Given the description of an element on the screen output the (x, y) to click on. 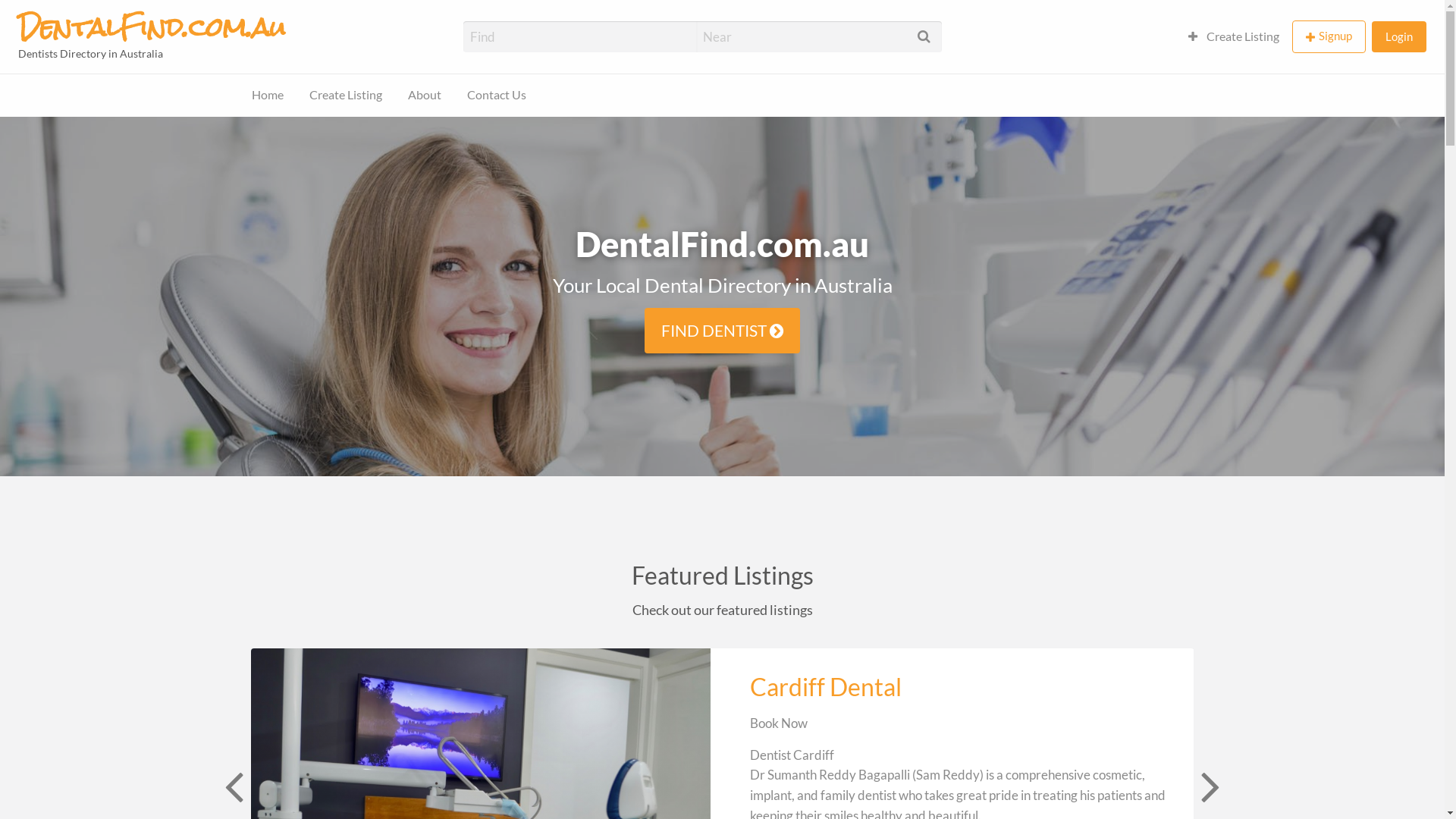
Search Element type: text (29, 16)
Contact Us Element type: text (38, 116)
Signup Element type: text (1328, 36)
Home Element type: text (267, 94)
Create Listing Element type: text (1233, 36)
Contact Us Element type: text (496, 94)
FIND DENTIST Element type: text (722, 329)
Next Element type: text (1208, 785)
About Element type: text (424, 94)
Previous Element type: text (231, 785)
Login Element type: text (1398, 36)
Cardiff Dental Element type: text (825, 686)
Create Listing Element type: text (345, 94)
